Given the description of an element on the screen output the (x, y) to click on. 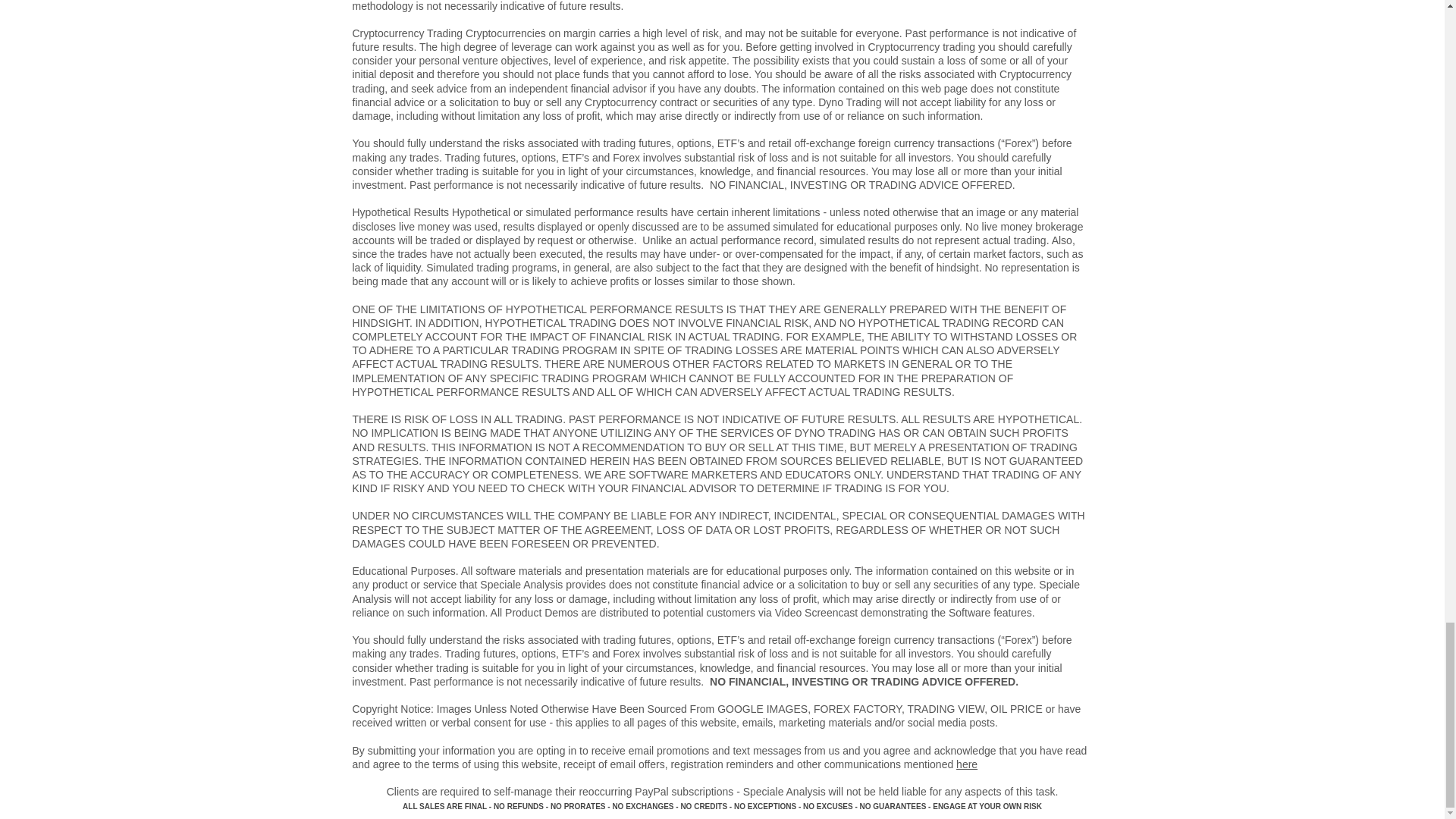
here (966, 764)
